Given the description of an element on the screen output the (x, y) to click on. 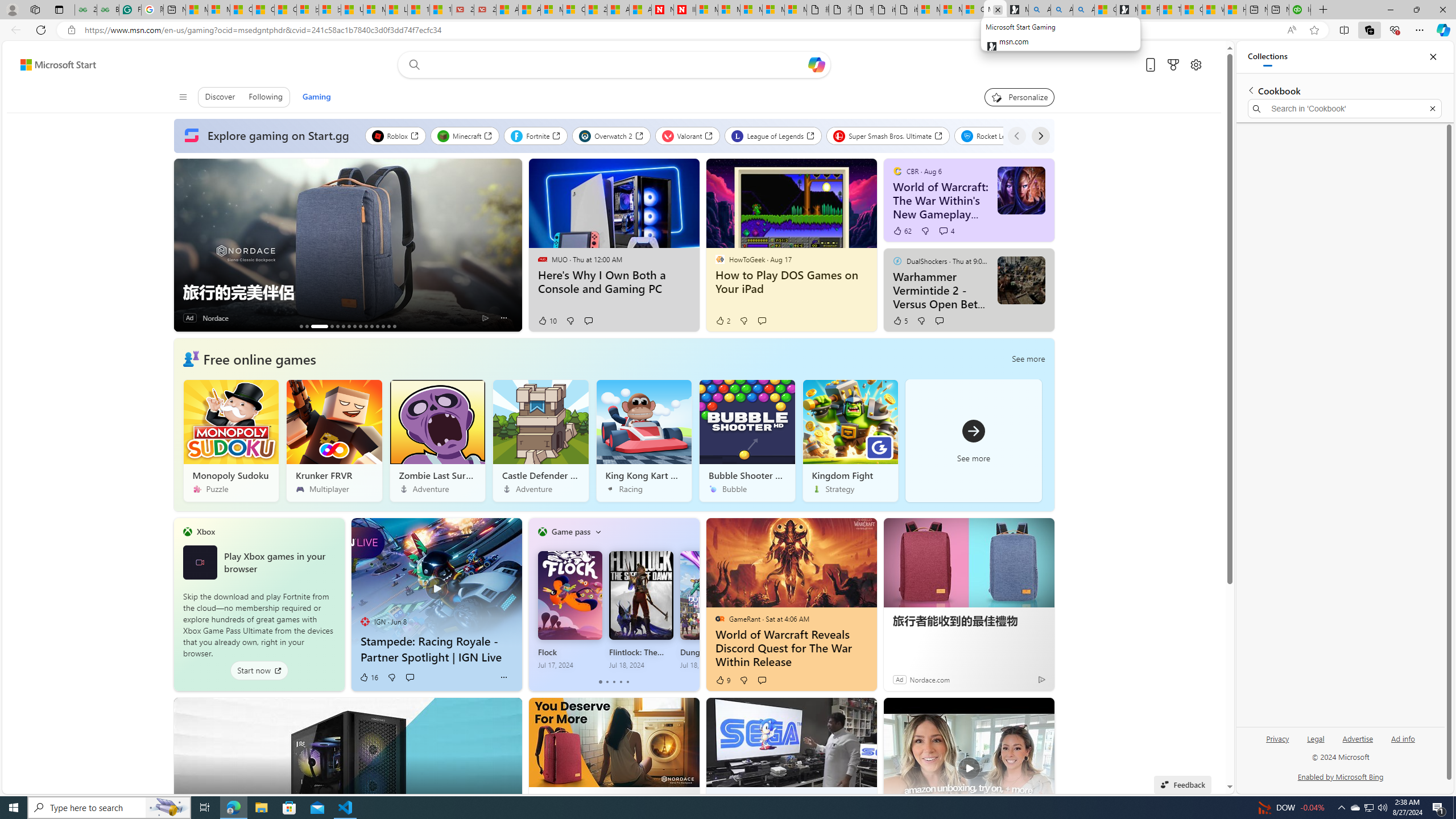
Zombie Last Survivor (437, 440)
Next (1039, 135)
itconcepthk.com/projector_solutions.mp4 (907, 9)
King Kong Kart Racing (643, 440)
Illness news & latest pictures from Newsweek.com (684, 9)
